Given the description of an element on the screen output the (x, y) to click on. 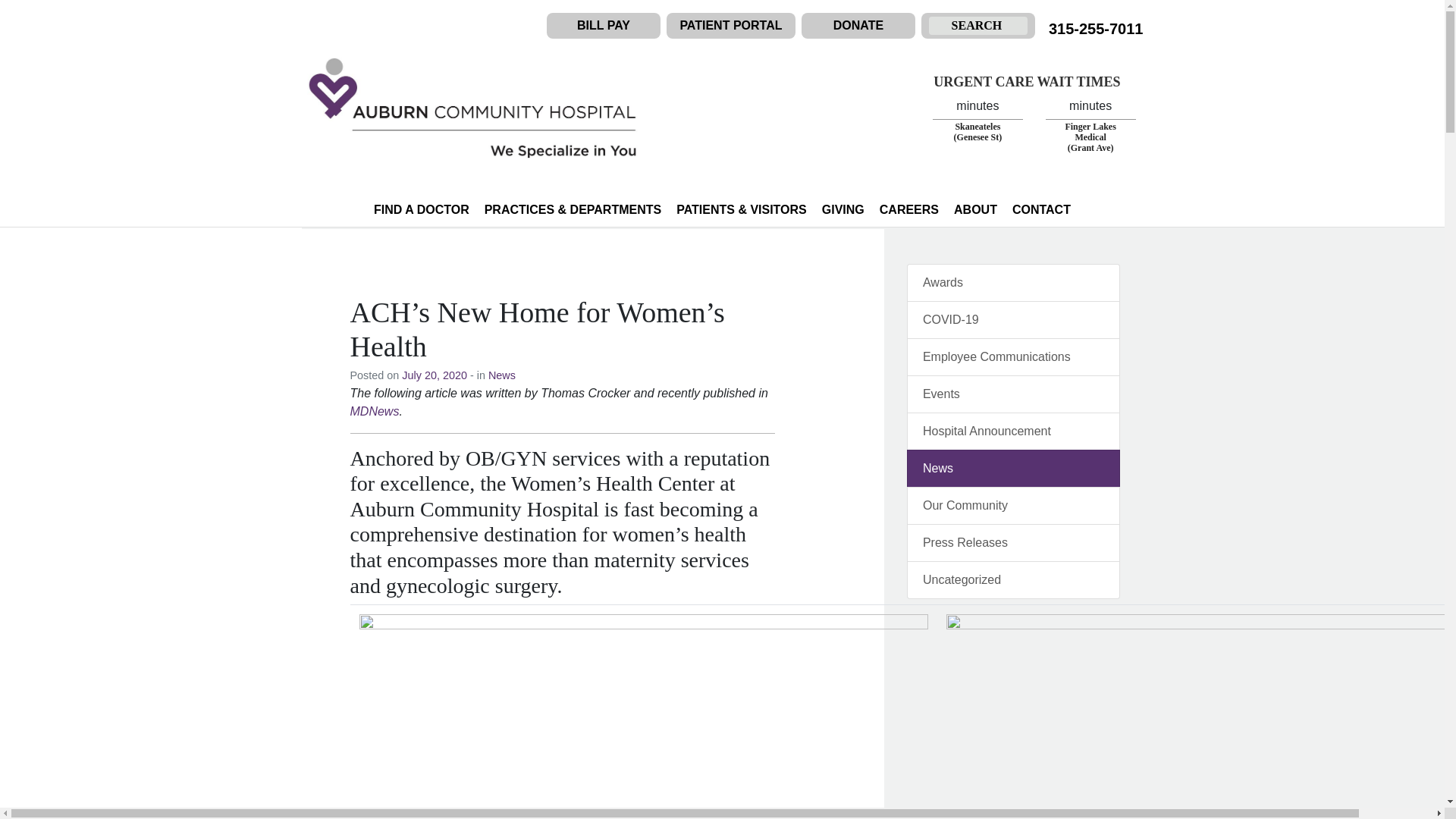
CALL US AT 315-255-7011 (1095, 28)
PATIENT PORTAL (730, 24)
315-255-7011 (1095, 28)
BILL PAY (603, 24)
FIND A DOCTOR (421, 210)
DONATE (857, 24)
ABOUT (975, 210)
GIVING (843, 210)
PATIENT PORTAL (730, 24)
DONATE (857, 24)
CAREERS (909, 210)
BILL PAY (603, 24)
